Given the description of an element on the screen output the (x, y) to click on. 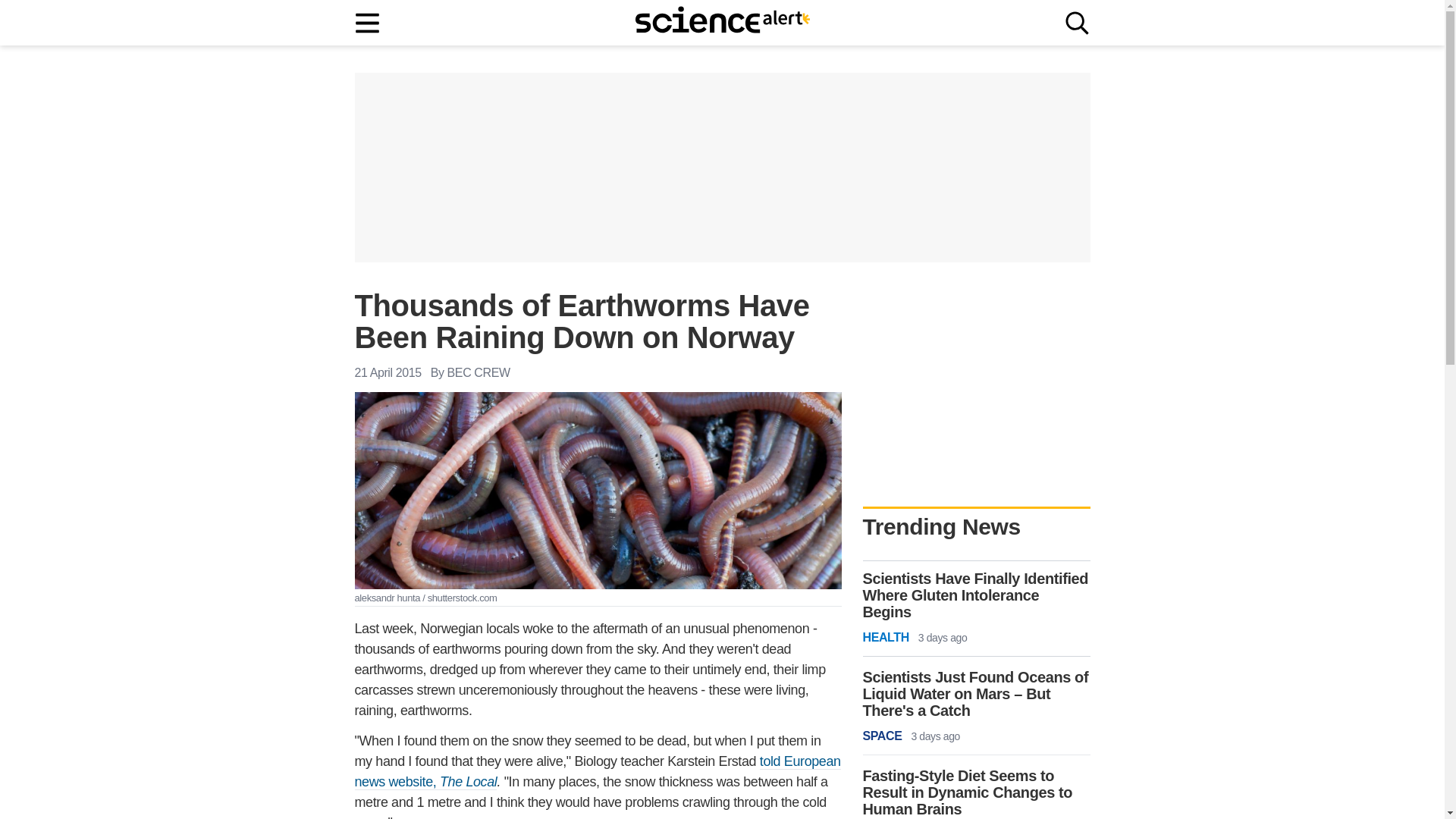
SPACE (882, 736)
HEALTH (885, 637)
The Local (467, 781)
told European news website, (598, 771)
